Given the description of an element on the screen output the (x, y) to click on. 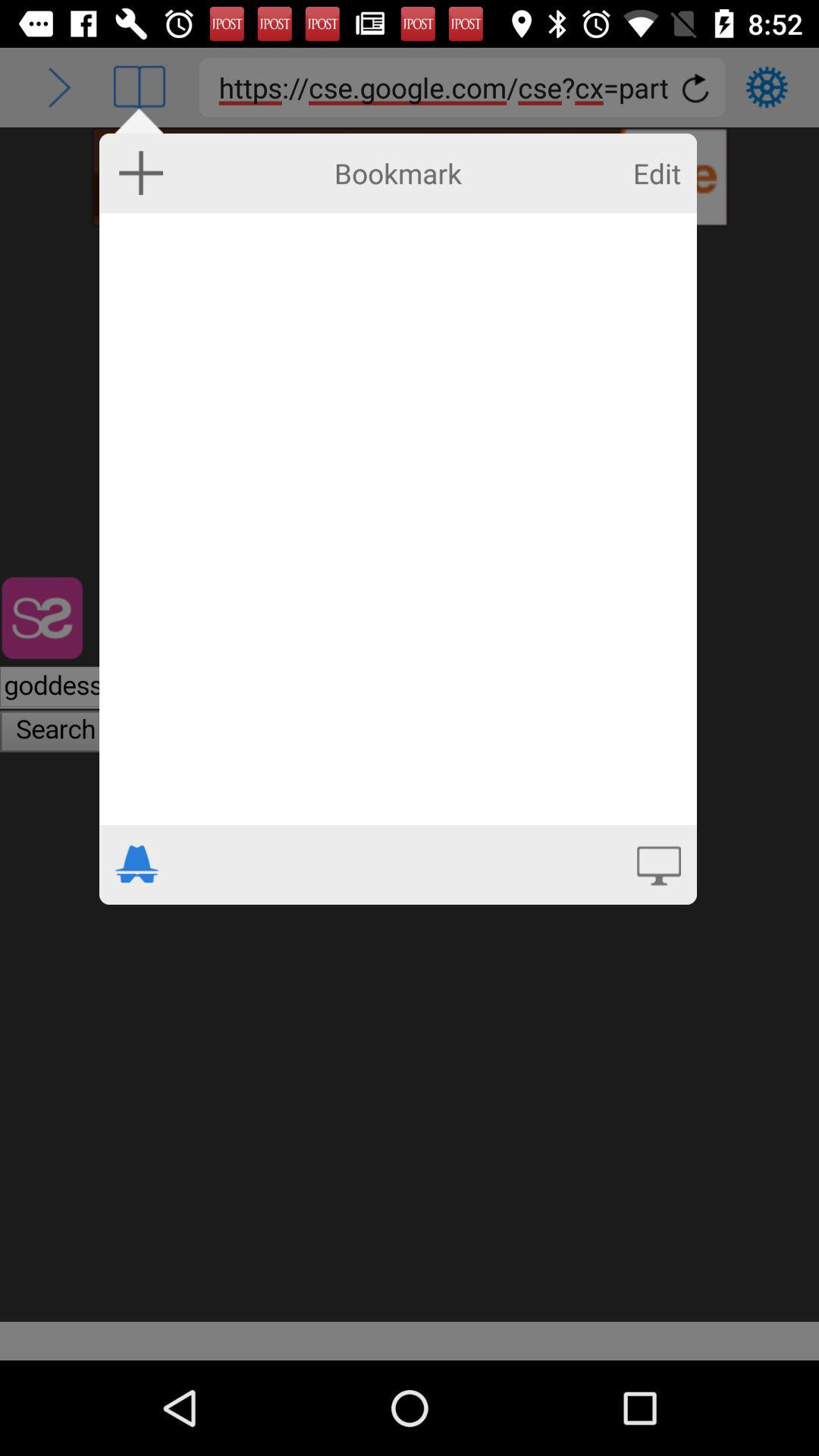
add a bookmark (141, 172)
